Given the description of an element on the screen output the (x, y) to click on. 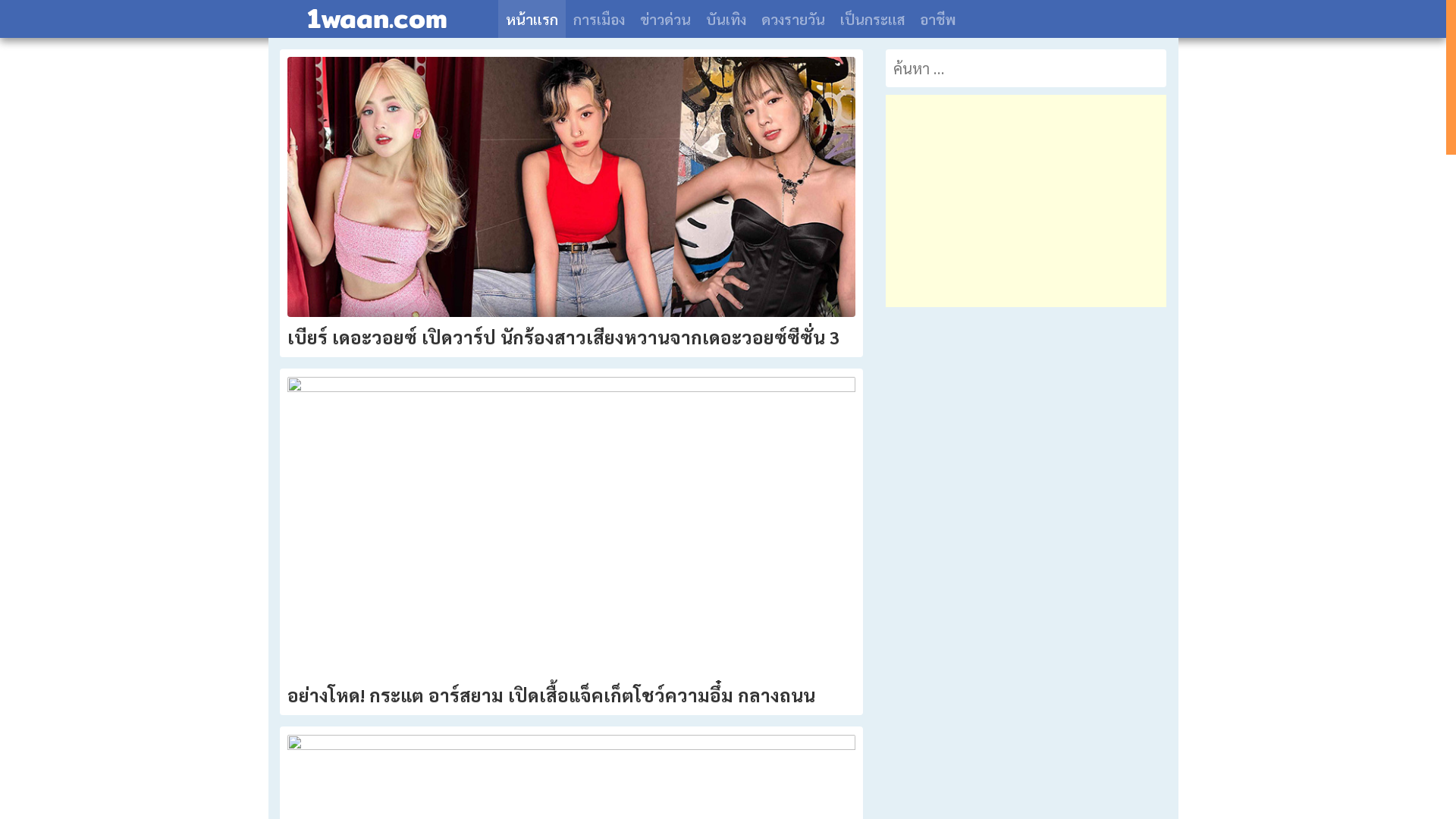
Advertisement Element type: hover (1025, 200)
